Given the description of an element on the screen output the (x, y) to click on. 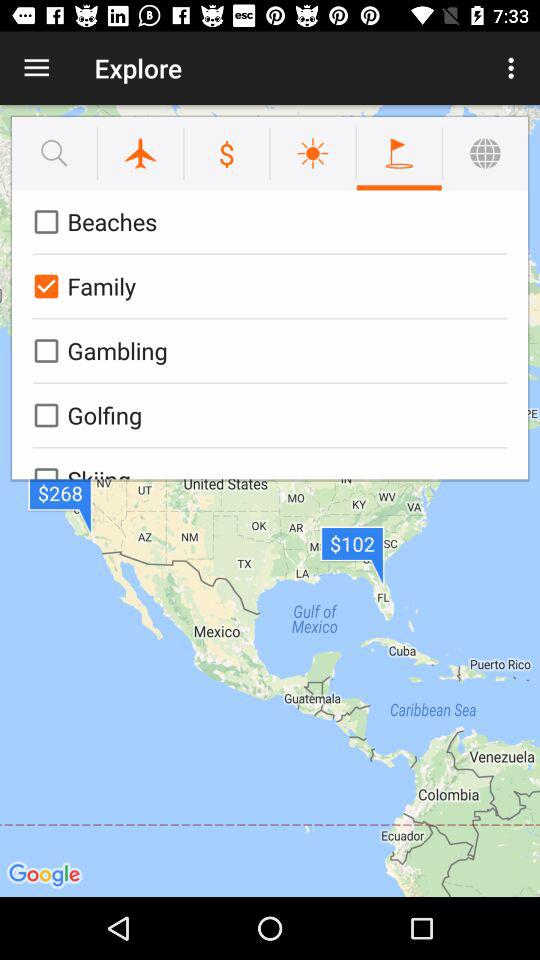
jump to beaches (266, 221)
